Given the description of an element on the screen output the (x, y) to click on. 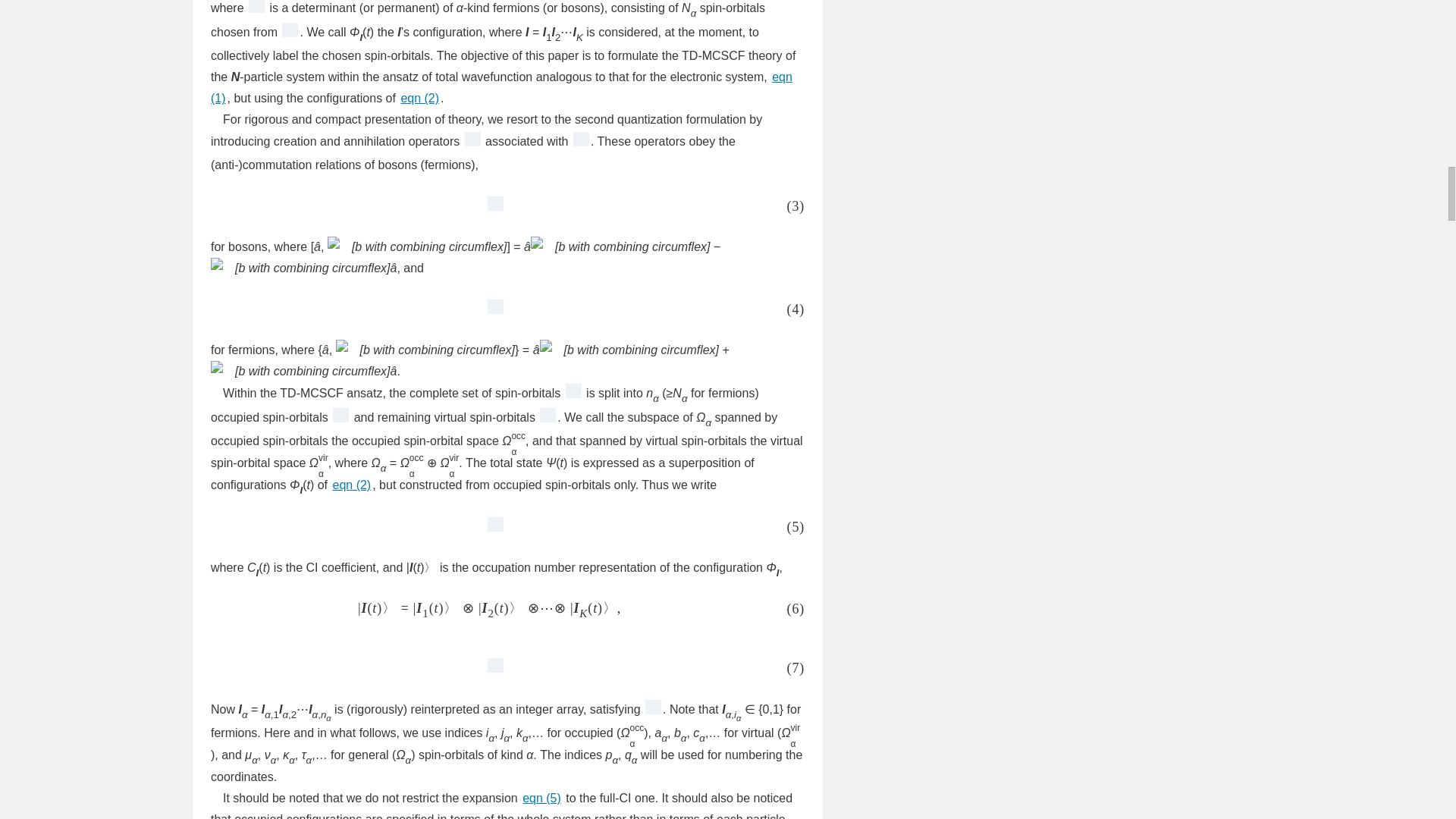
Select to open image in new window (489, 526)
Select to open image in new window (256, 10)
Select to open image in new window (489, 206)
Select to open image in new window (489, 668)
Select to open image in new window (489, 309)
